Given the description of an element on the screen output the (x, y) to click on. 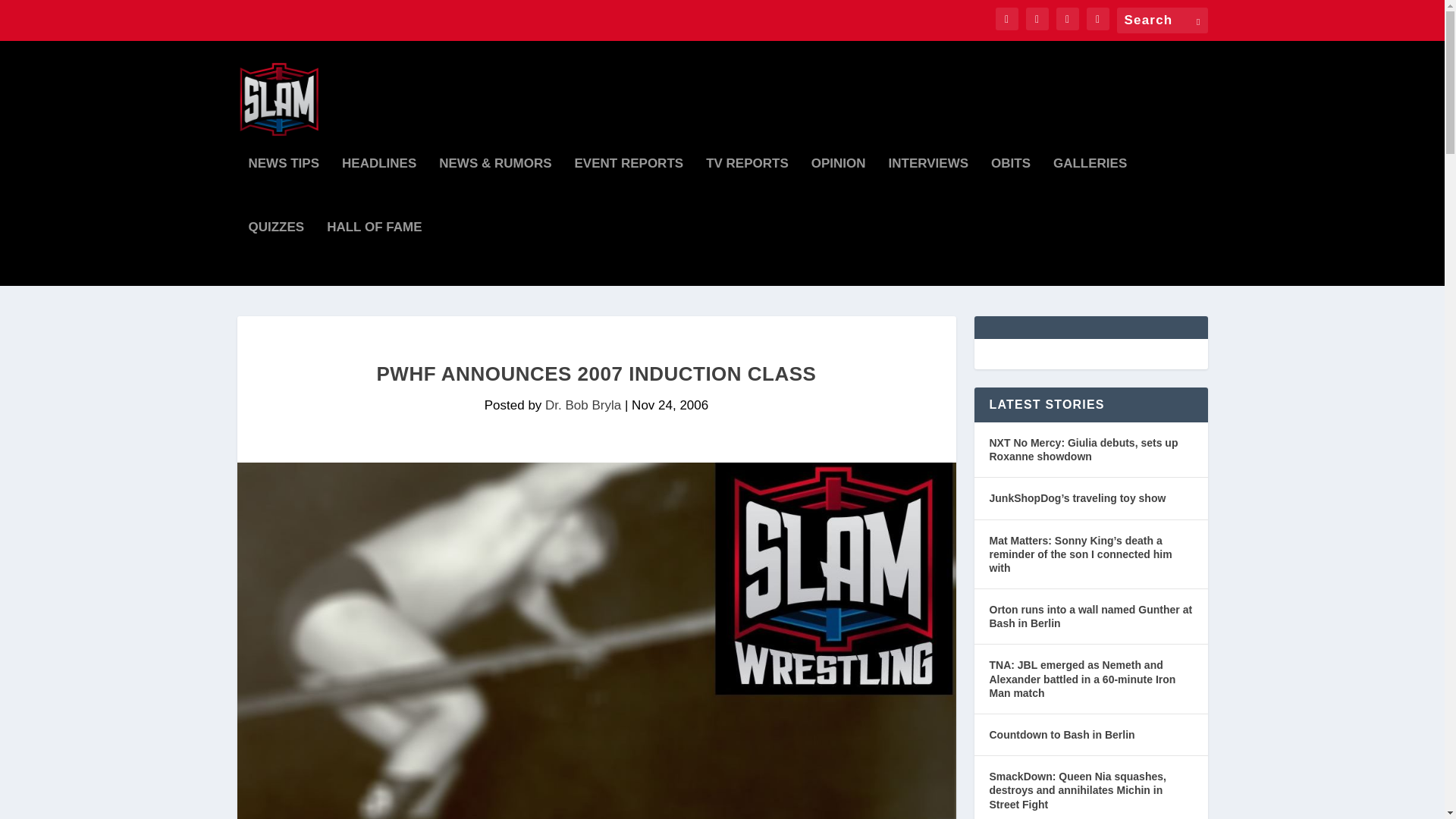
HALL OF FAME (374, 253)
Search for: (1161, 20)
NEWS TIPS (284, 189)
EVENT REPORTS (629, 189)
TV REPORTS (747, 189)
NXT No Mercy: Giulia debuts, sets up Roxanne showdown (1090, 450)
Posts by Dr. Bob Bryla (582, 405)
HEADLINES (379, 189)
Dr. Bob Bryla (582, 405)
Countdown to Bash in Berlin (1061, 734)
